Given the description of an element on the screen output the (x, y) to click on. 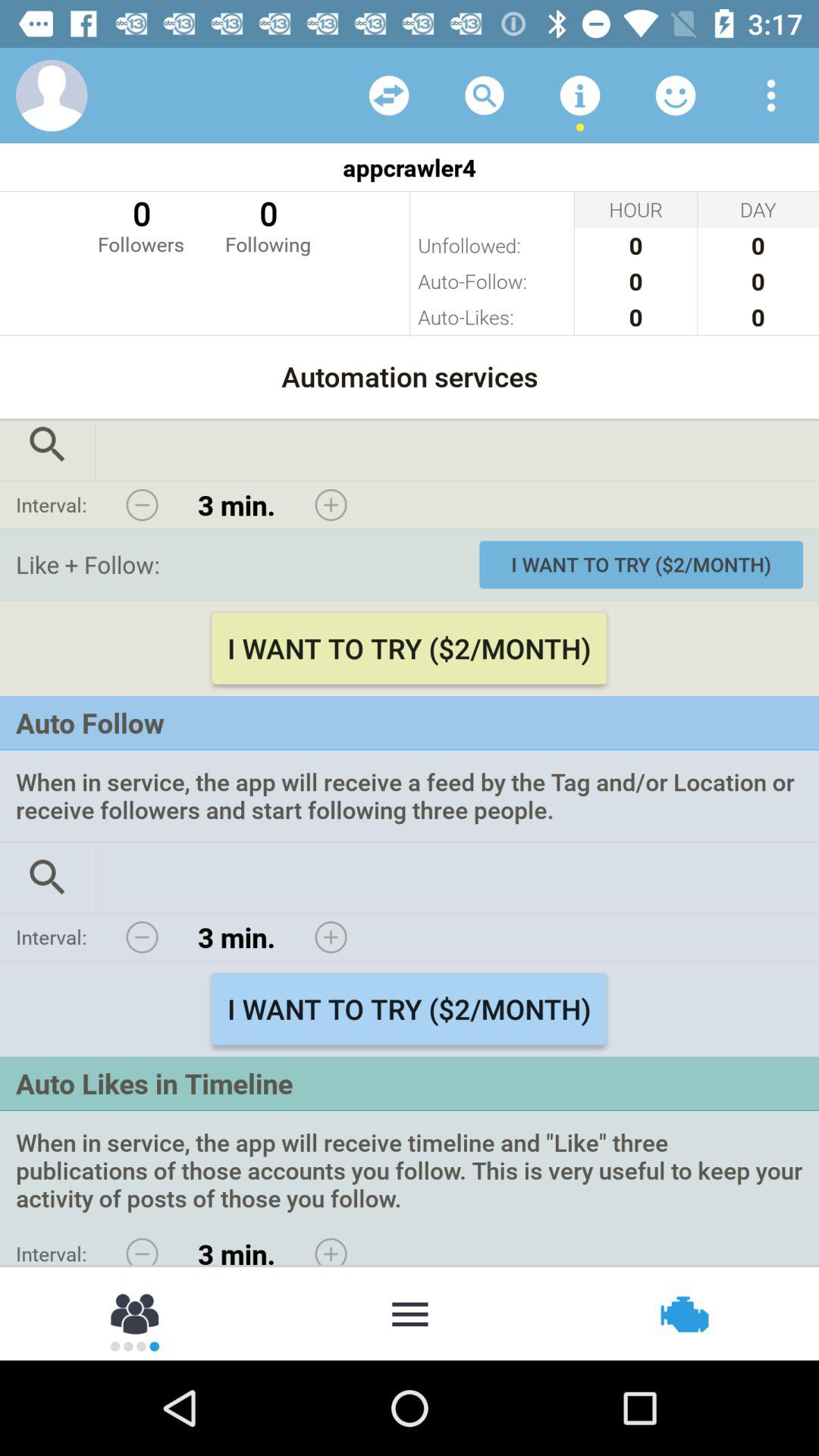
share with contacts (136, 1312)
